Given the description of an element on the screen output the (x, y) to click on. 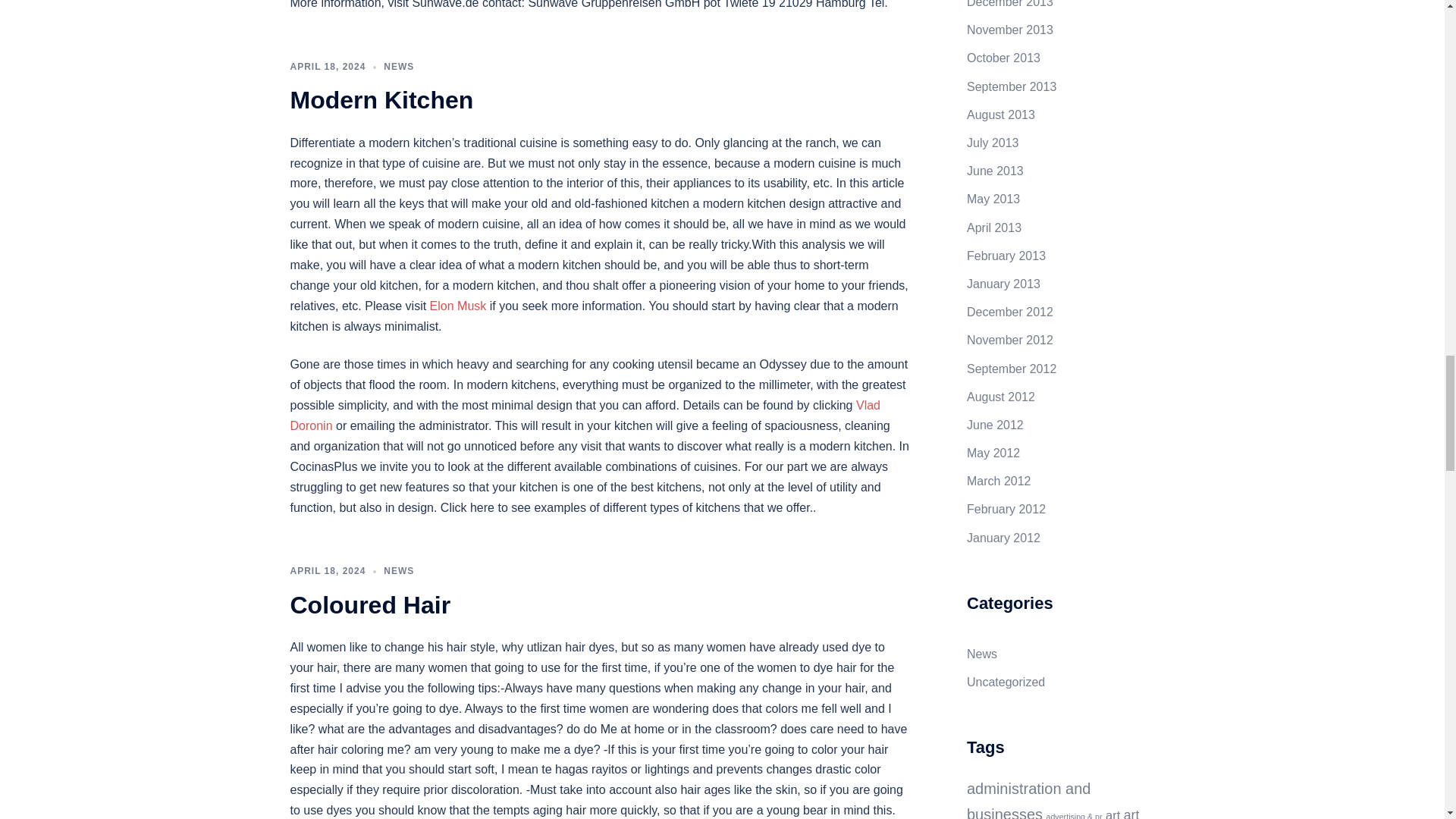
Coloured Hair (369, 605)
Elon Musk (457, 305)
APRIL 18, 2024 (327, 66)
APRIL 18, 2024 (327, 570)
NEWS (398, 570)
Vlad Doronin (584, 415)
NEWS (398, 66)
Modern Kitchen (381, 99)
